Given the description of an element on the screen output the (x, y) to click on. 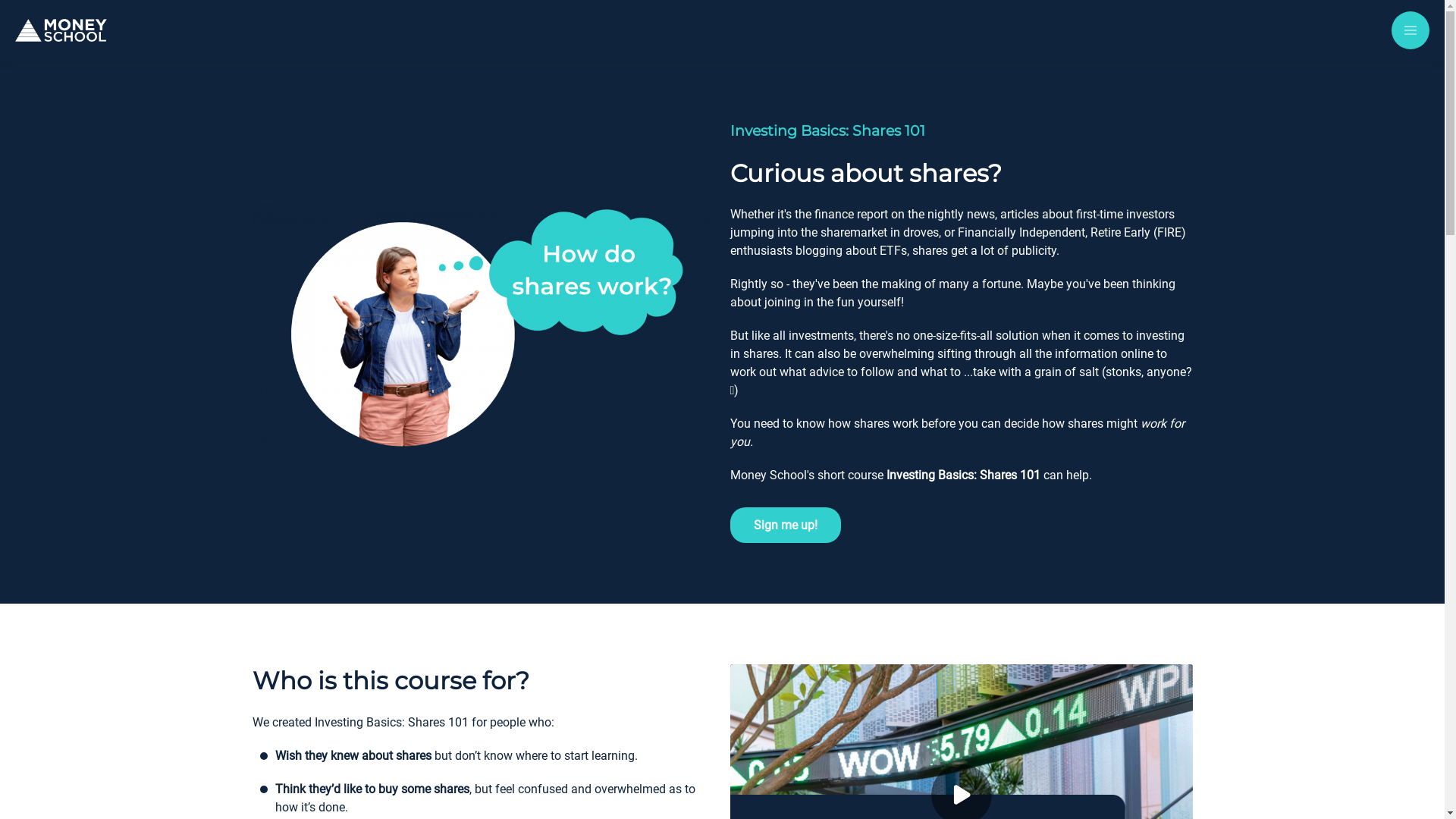
Sign me up! Element type: text (784, 524)
